Given the description of an element on the screen output the (x, y) to click on. 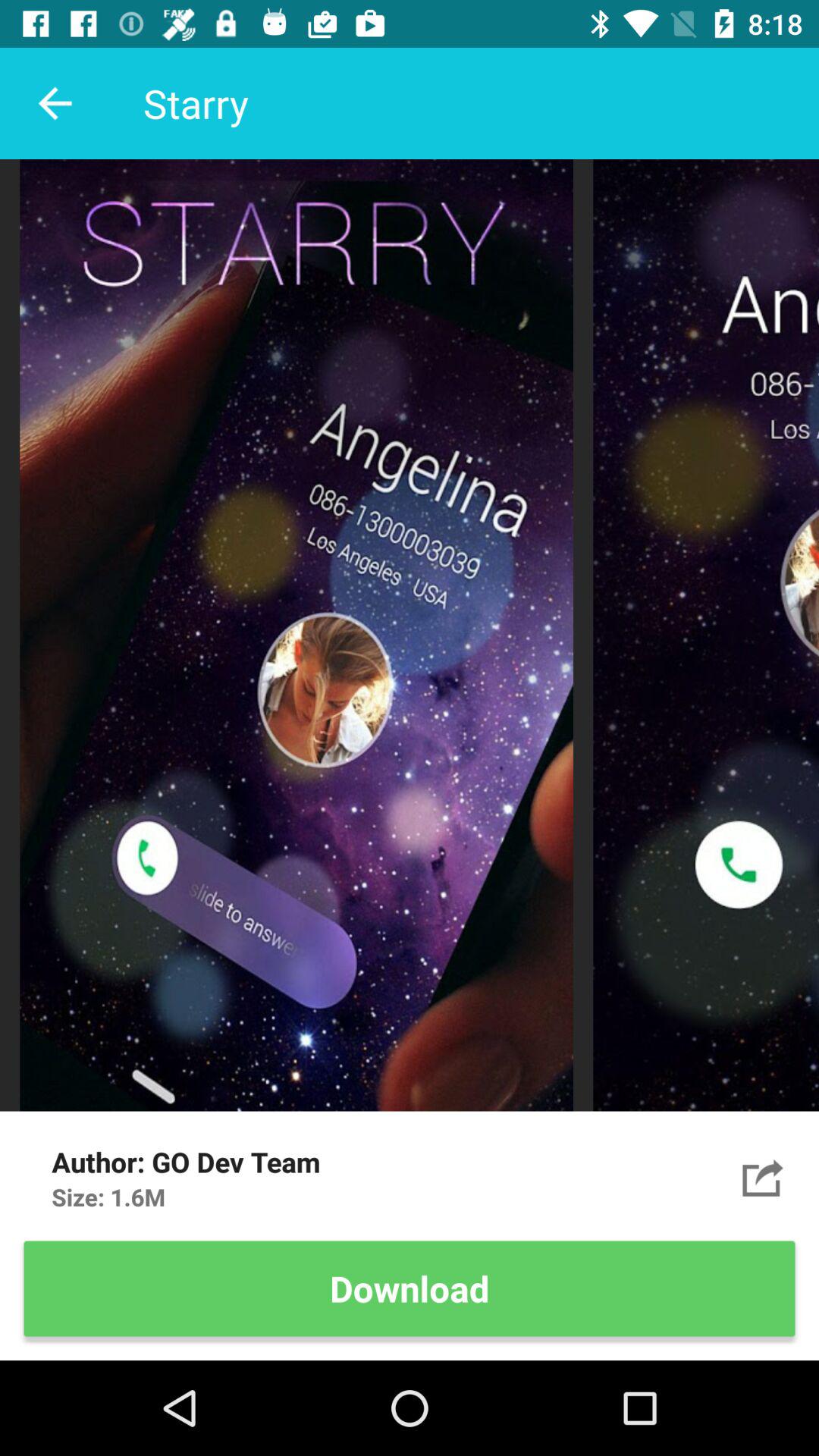
select item to the right of the go dev team (763, 1177)
